Given the description of an element on the screen output the (x, y) to click on. 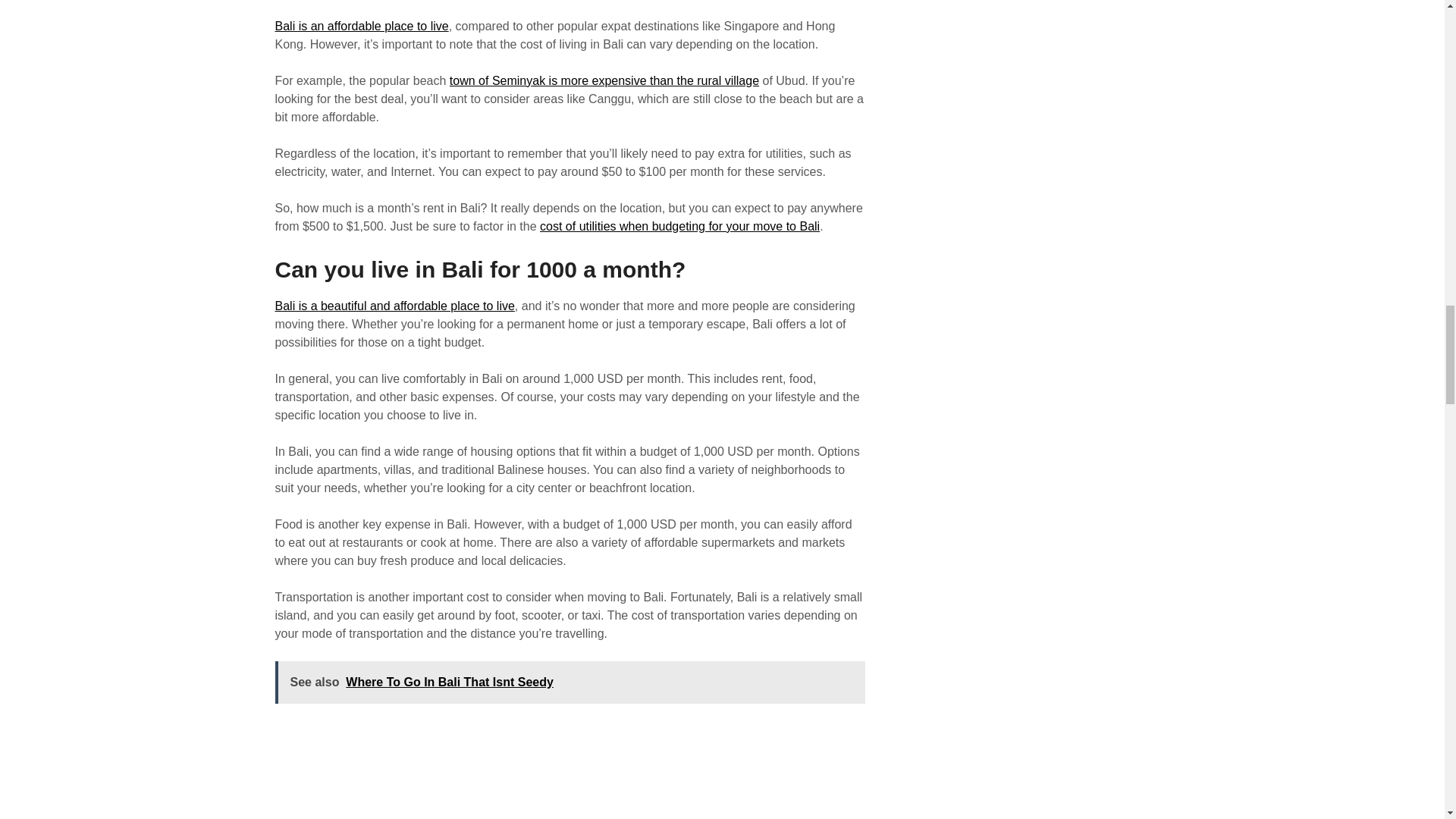
town of Seminyak is more expensive than the rural village (603, 80)
Bali is a beautiful and affordable place to live (394, 305)
Bali is an affordable place to live (361, 25)
cost of utilities when budgeting for your move to Bali (679, 226)
See also  Where To Go In Bali That Isnt Seedy (569, 681)
